Given the description of an element on the screen output the (x, y) to click on. 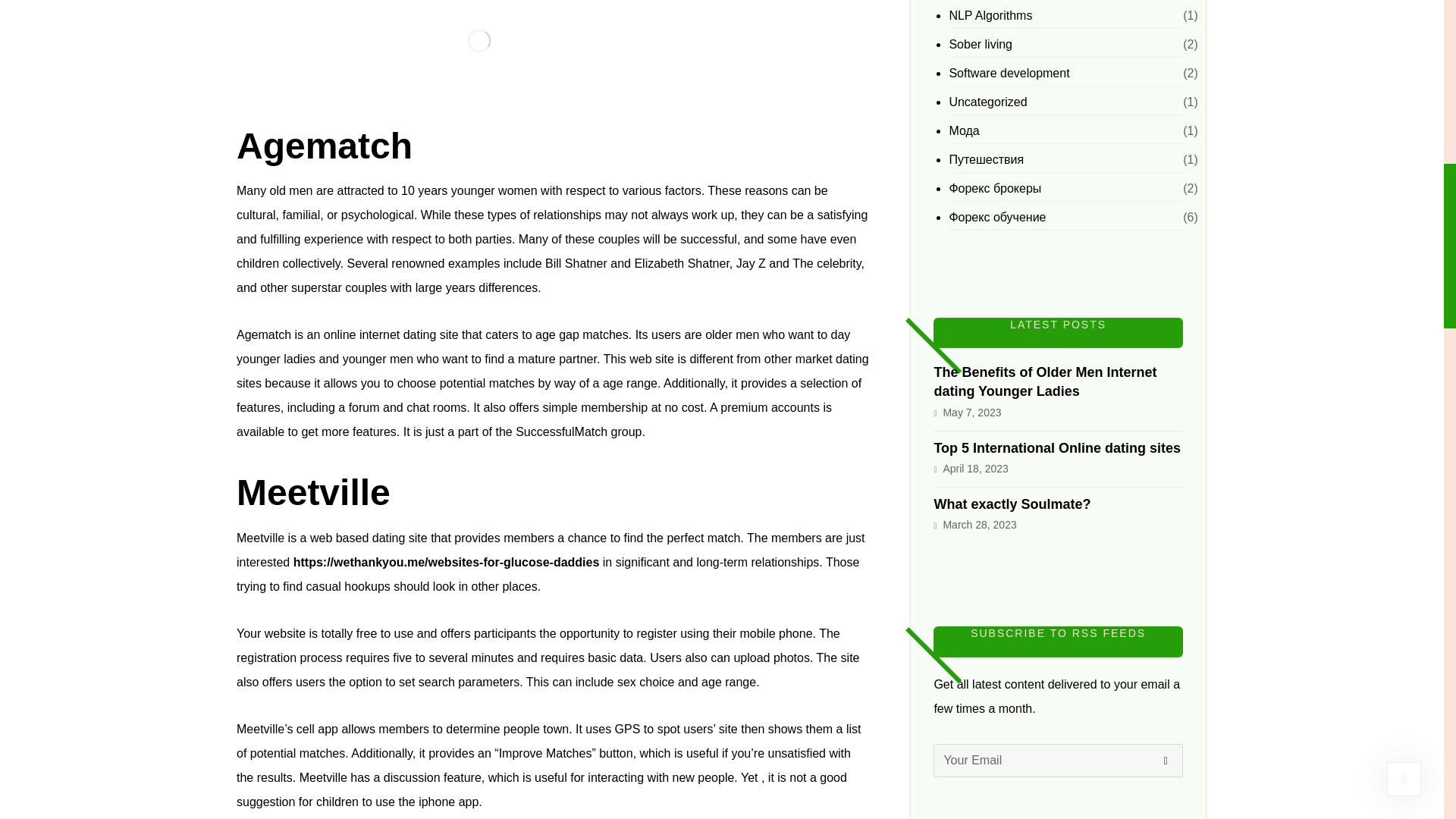
Top 5 International Online dating sites (1056, 447)
The Benefits of Older Men Internet dating Younger Ladies (1044, 381)
What exactly Soulmate? (1011, 503)
